Given the description of an element on the screen output the (x, y) to click on. 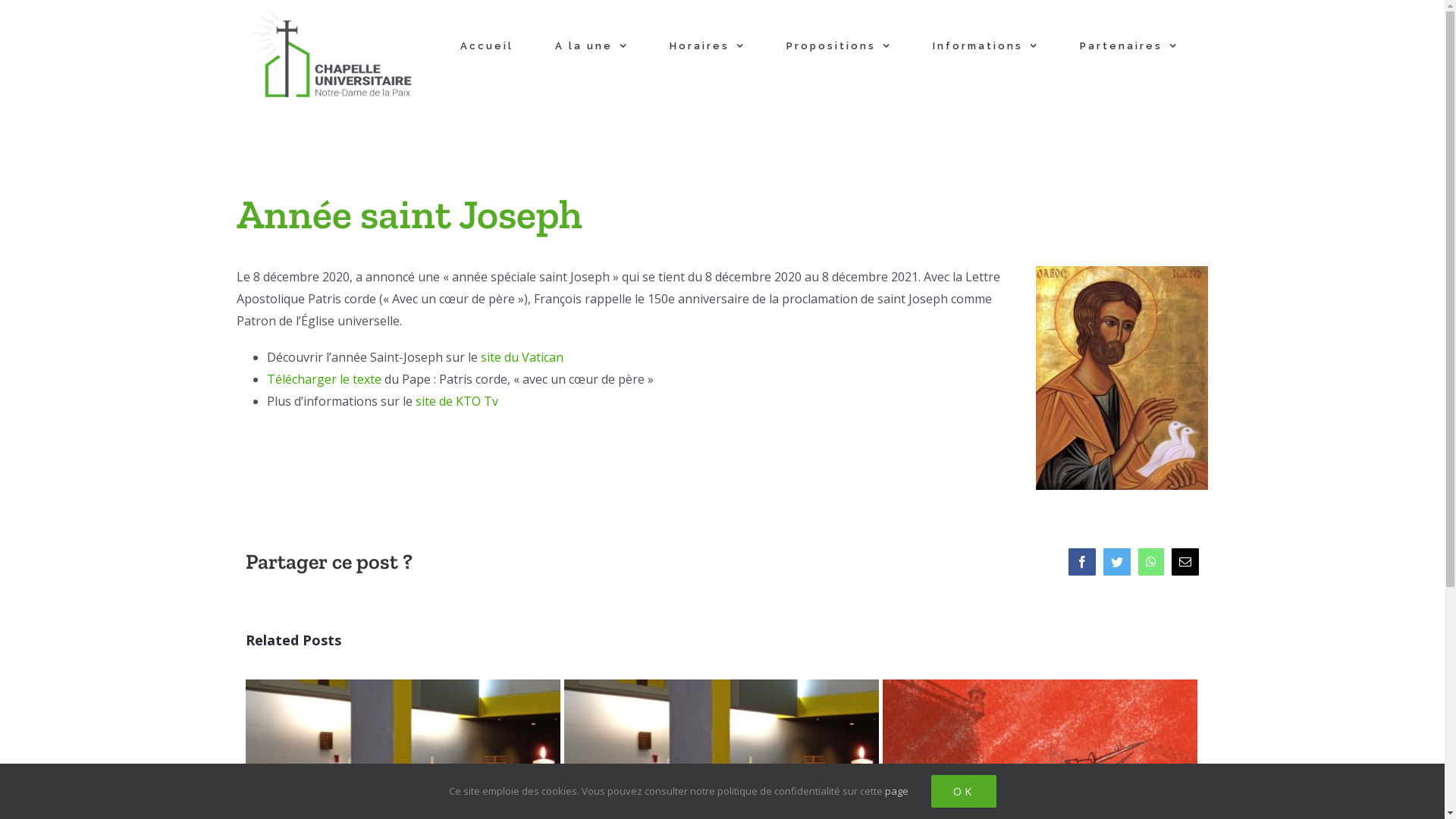
WhatsApp Element type: text (1151, 561)
OK Element type: text (963, 791)
site du Vatican Element type: text (521, 356)
Partenaires Element type: text (1127, 45)
Facebook Element type: text (1081, 561)
Accueil Element type: text (486, 45)
page Element type: text (895, 790)
A la une Element type: text (590, 45)
Informations Element type: text (984, 45)
Propositions Element type: text (838, 45)
Twitter Element type: text (1116, 561)
site de KTO Tv Element type: text (456, 400)
Horaires Element type: text (707, 45)
Email Element type: text (1184, 561)
